Given the description of an element on the screen output the (x, y) to click on. 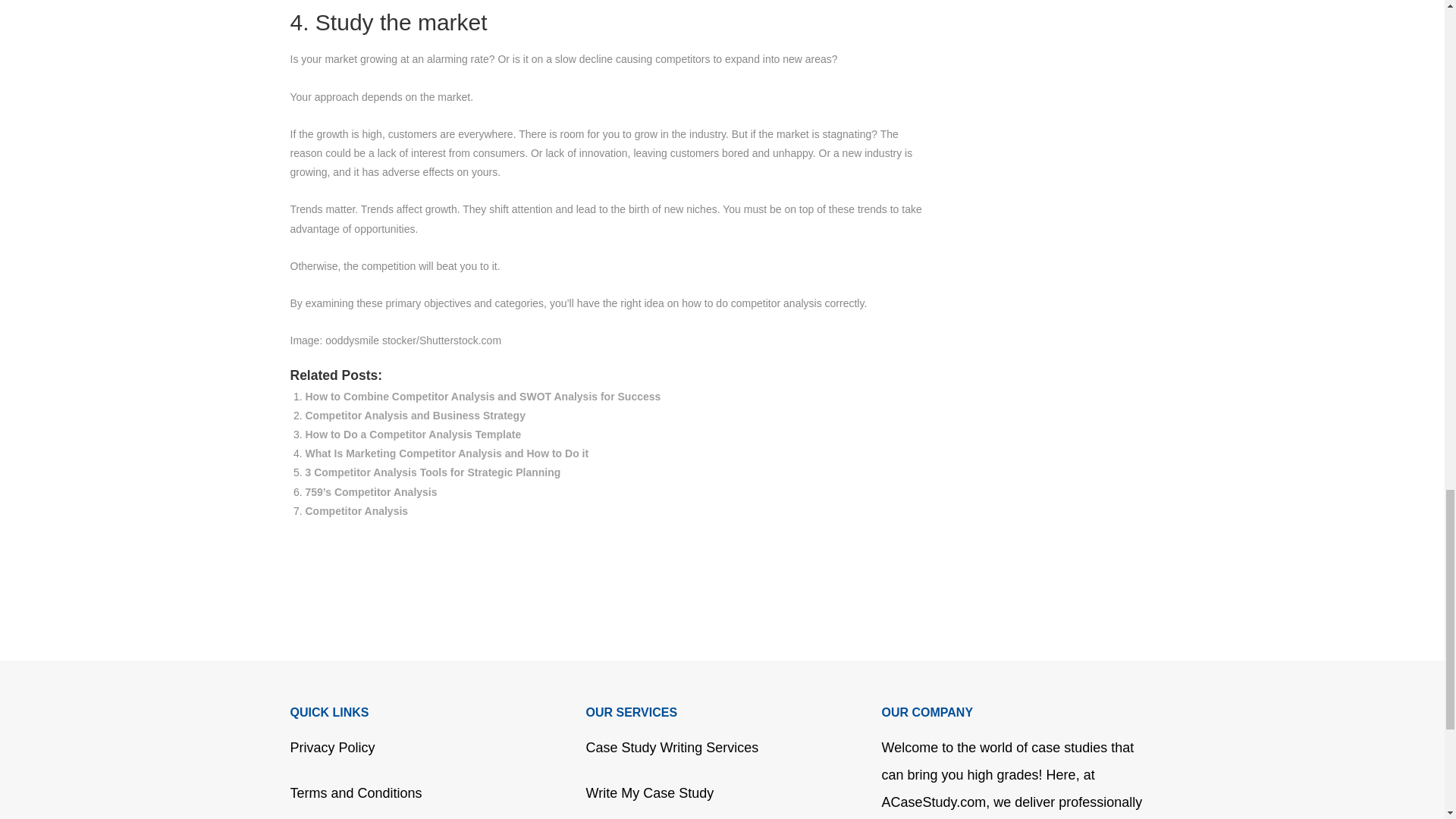
Competitor Analysis (355, 510)
How to Do a Competitor Analysis Template (412, 434)
Competitor Analysis and Business Strategy (414, 415)
3 Competitor Analysis Tools for Strategic Planning (432, 472)
What Is Marketing Competitor Analysis and How to Do it (446, 453)
